Given the description of an element on the screen output the (x, y) to click on. 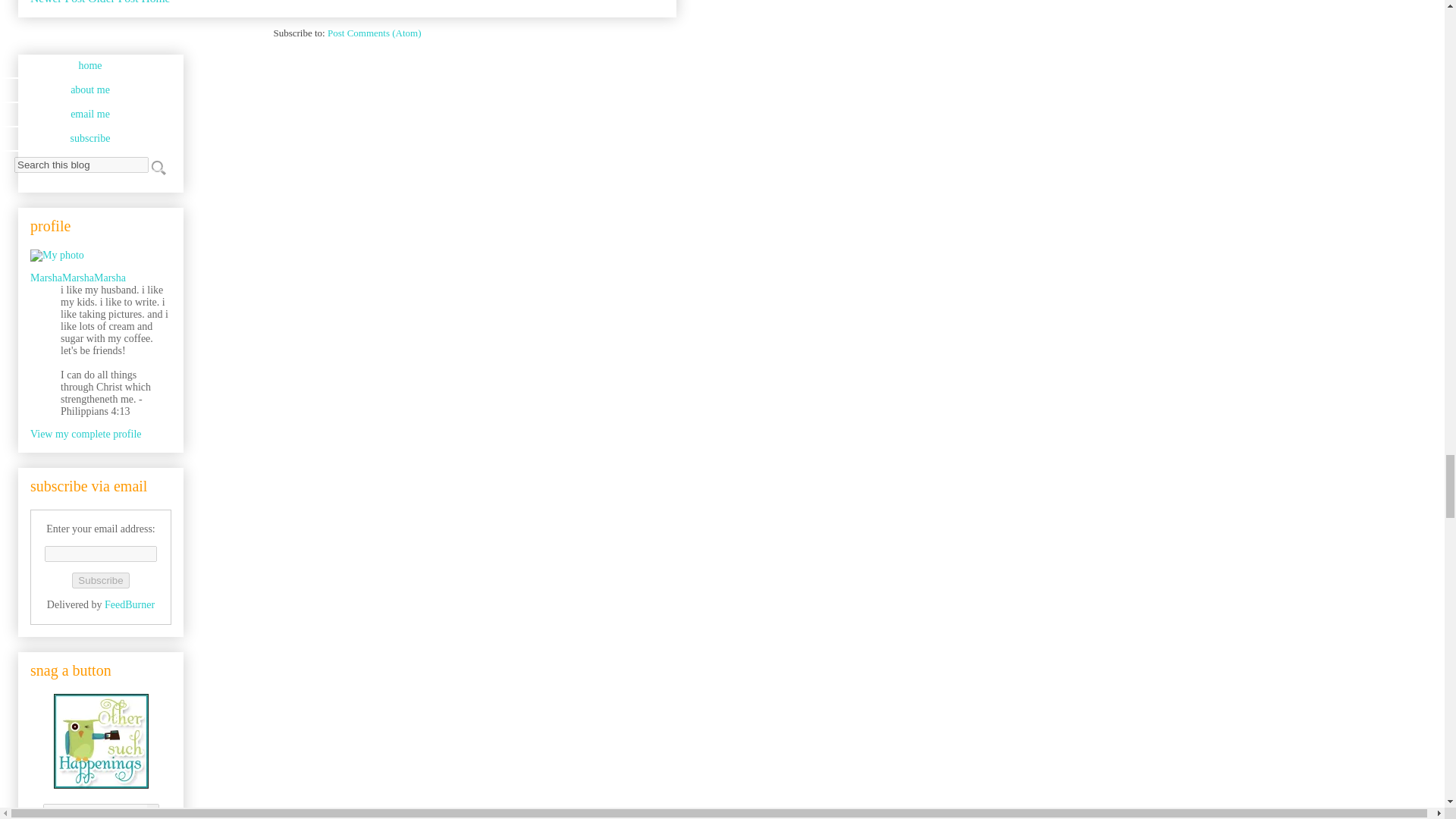
Subscribe (100, 580)
Search (158, 167)
Search this blog (81, 164)
